Given the description of an element on the screen output the (x, y) to click on. 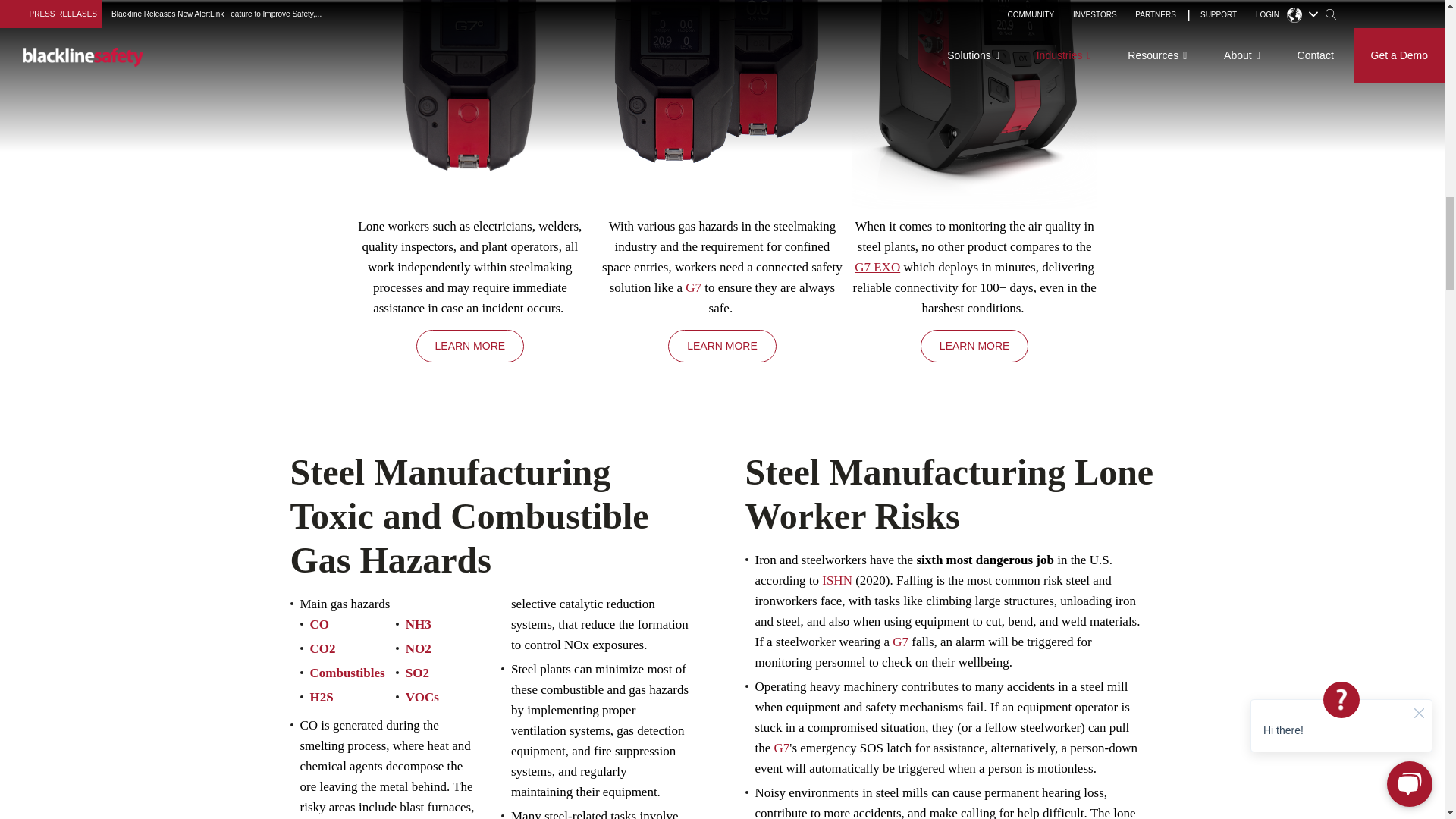
LEARN MORE (722, 346)
LEARN MORE (470, 346)
LEARN MORE (974, 346)
